Given the description of an element on the screen output the (x, y) to click on. 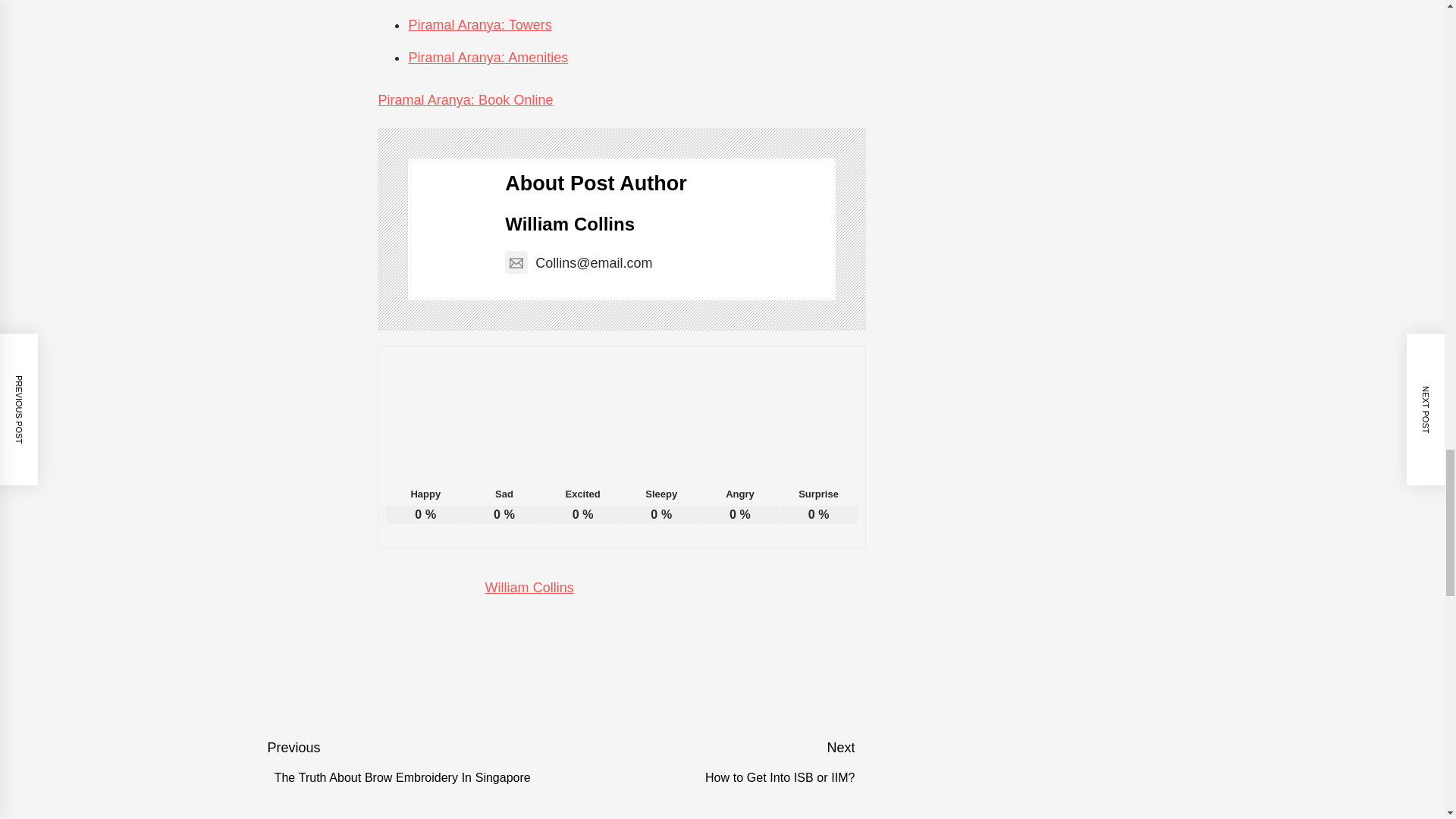
Piramal Aranya: Book Online (465, 99)
William Collins (569, 223)
Piramal Aranya: Amenities (487, 57)
Piramal Aranya: Towers (479, 24)
William Collins (528, 587)
